Given the description of an element on the screen output the (x, y) to click on. 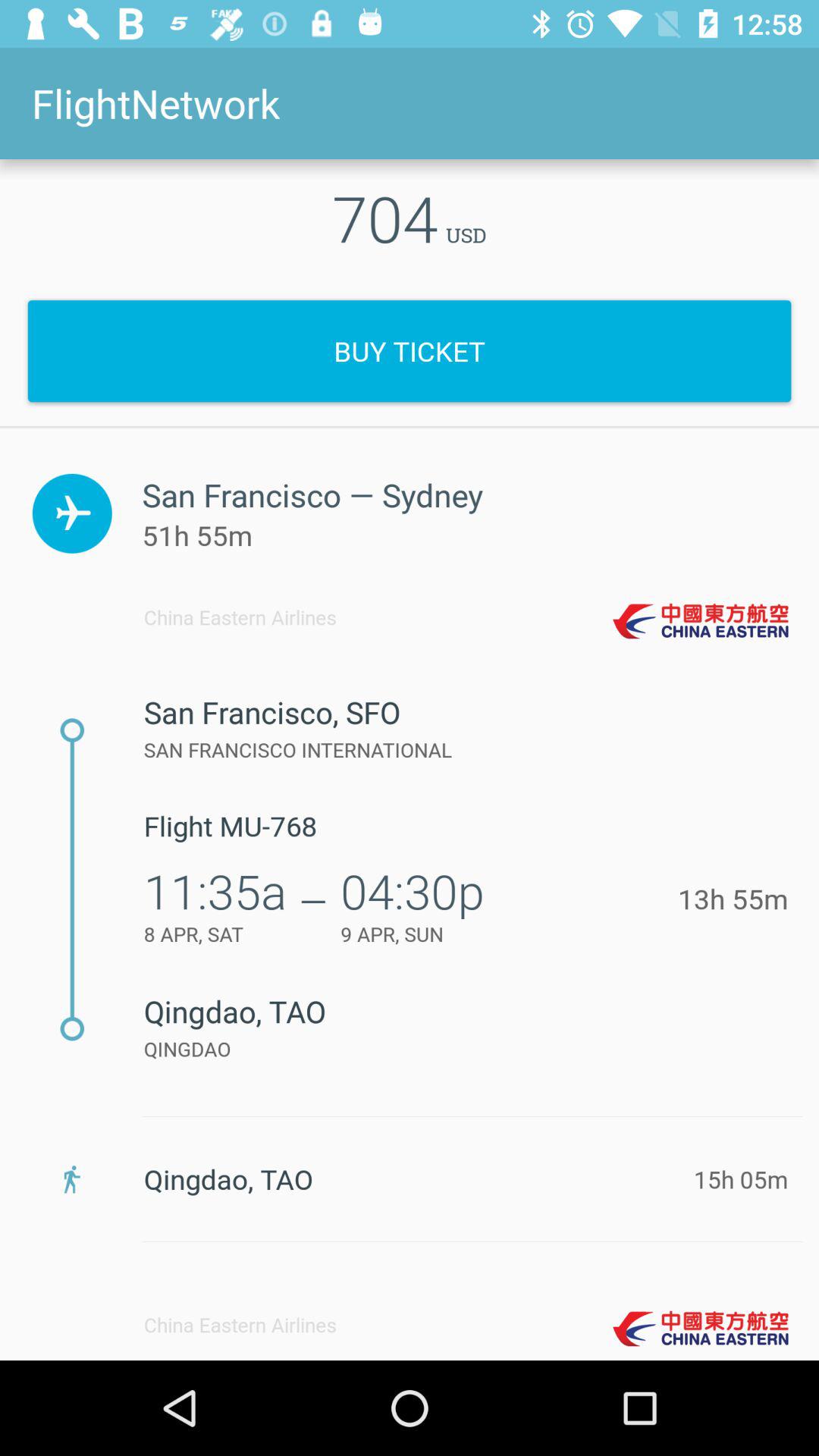
launch buy ticket (409, 351)
